Given the description of an element on the screen output the (x, y) to click on. 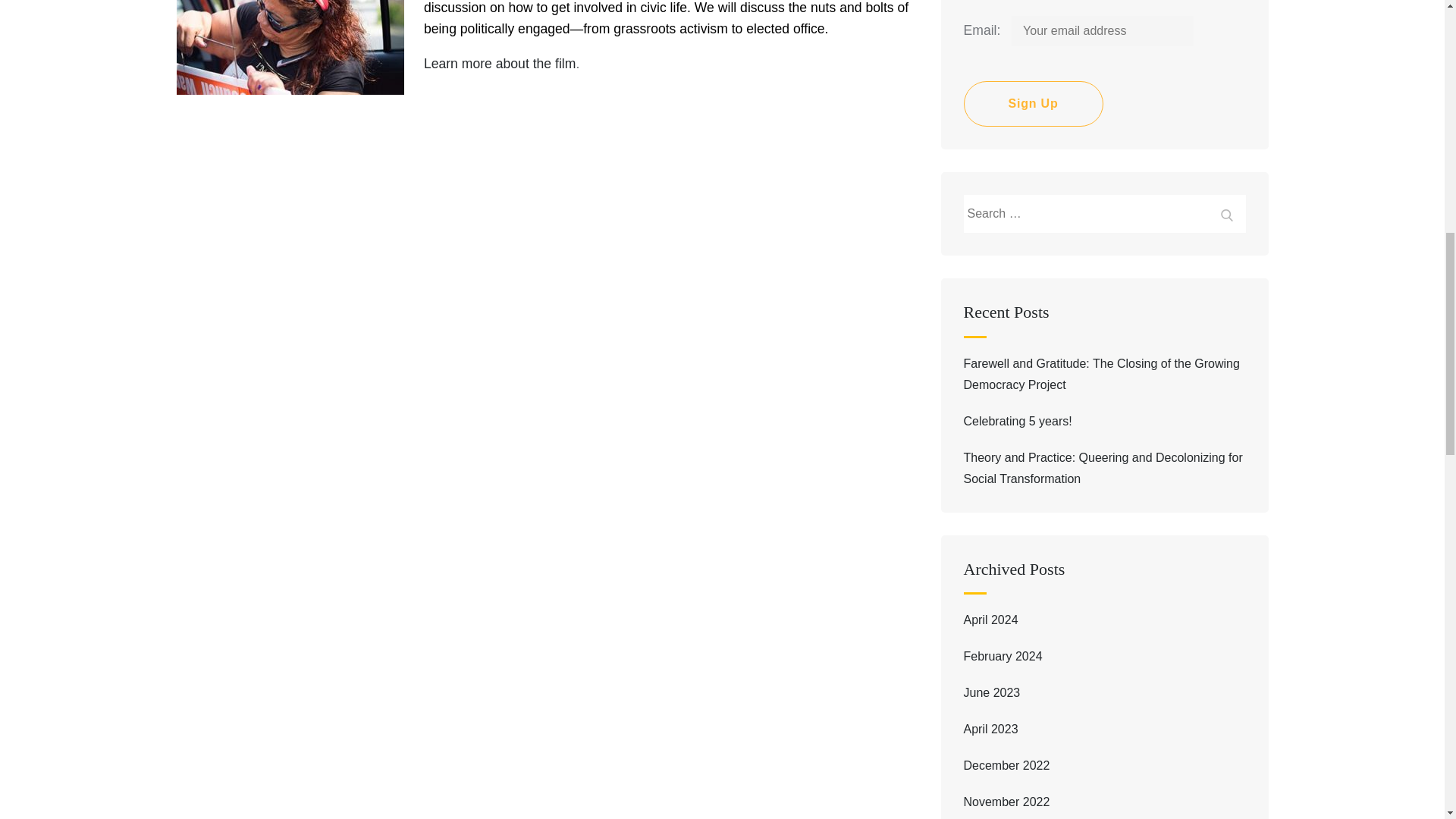
Sign up (1032, 103)
